Given the description of an element on the screen output the (x, y) to click on. 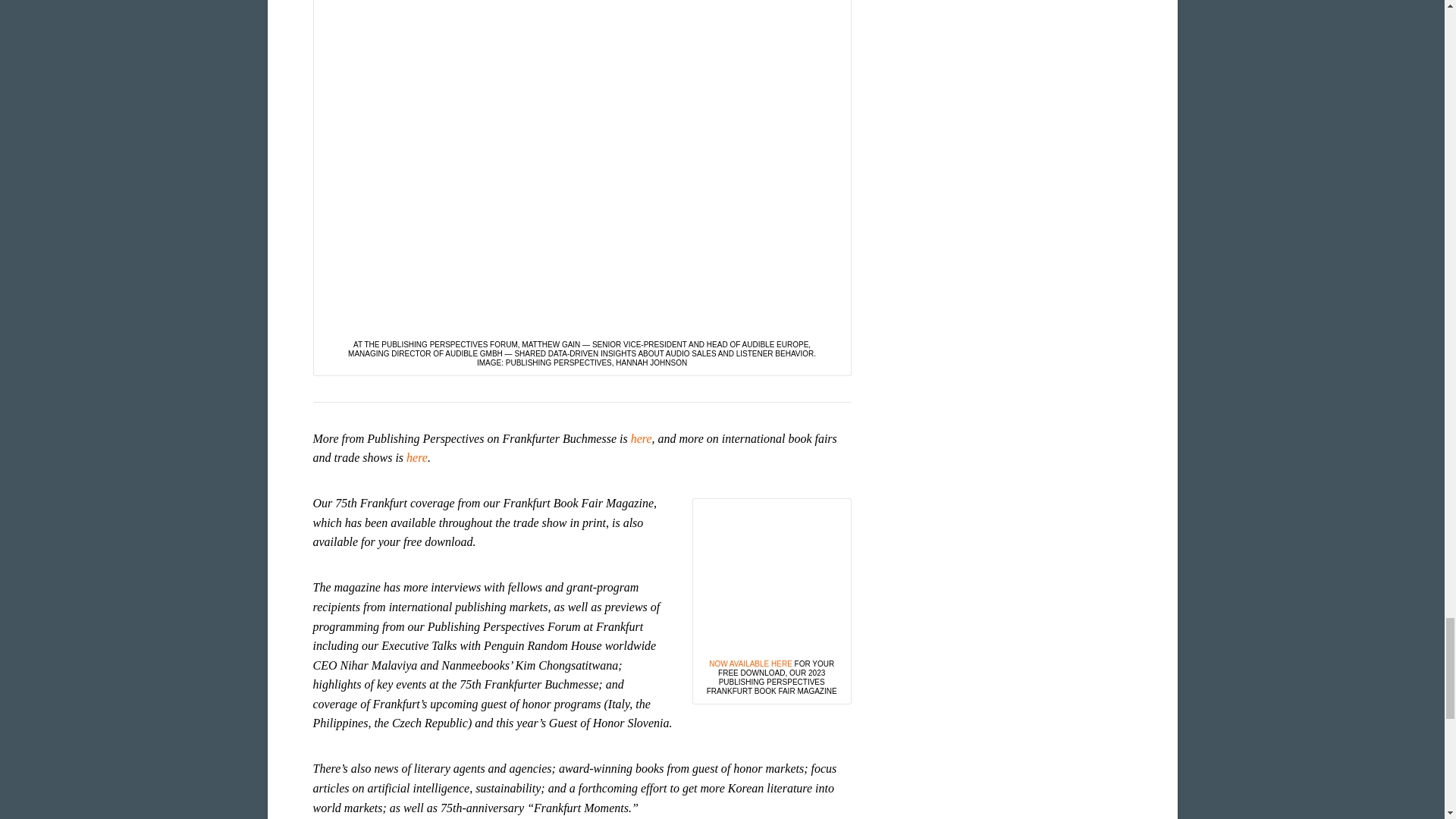
here (641, 438)
here (417, 457)
NOW AVAILABLE HERE (750, 664)
